Given the description of an element on the screen output the (x, y) to click on. 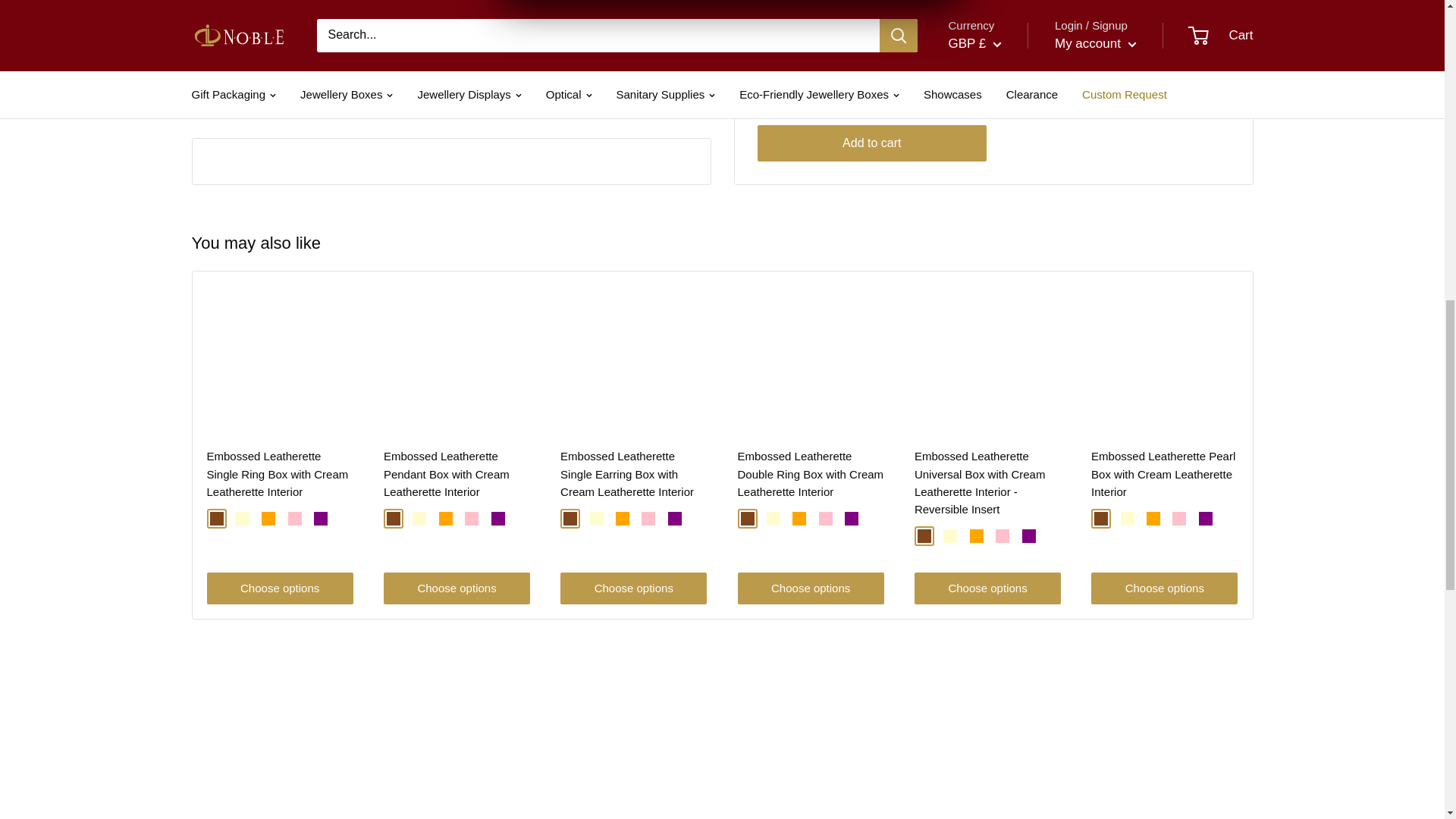
Purple (320, 518)
Purple (498, 518)
Pink (825, 518)
Cream (773, 518)
Pink (294, 518)
Purple (674, 518)
Cream (241, 518)
Purple (851, 518)
